Given the description of an element on the screen output the (x, y) to click on. 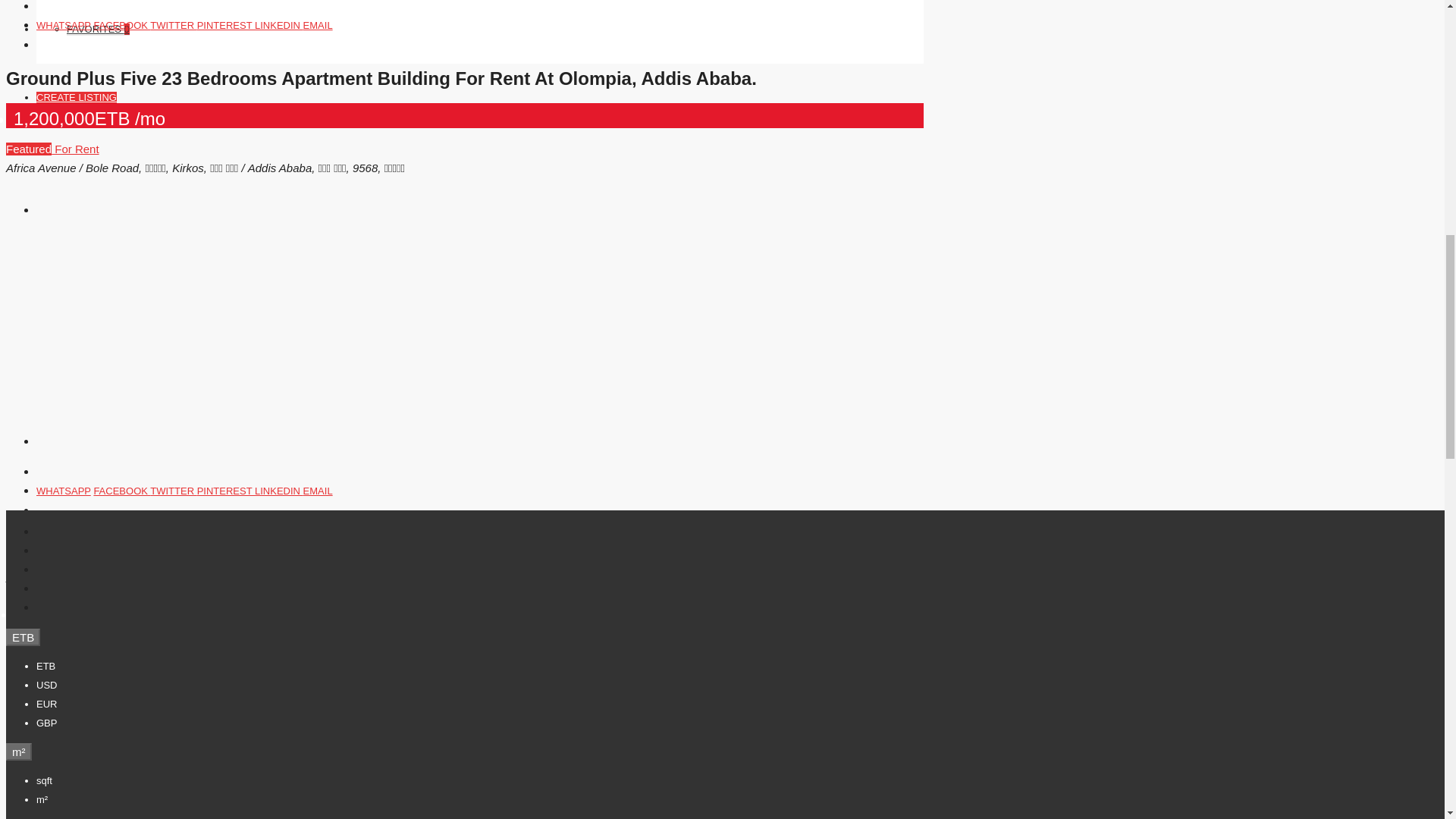
CREATE LISTING (76, 97)
FACEBOOK (121, 25)
WHATSAPP (63, 25)
FAVORITES 0 (97, 29)
